Given the description of an element on the screen output the (x, y) to click on. 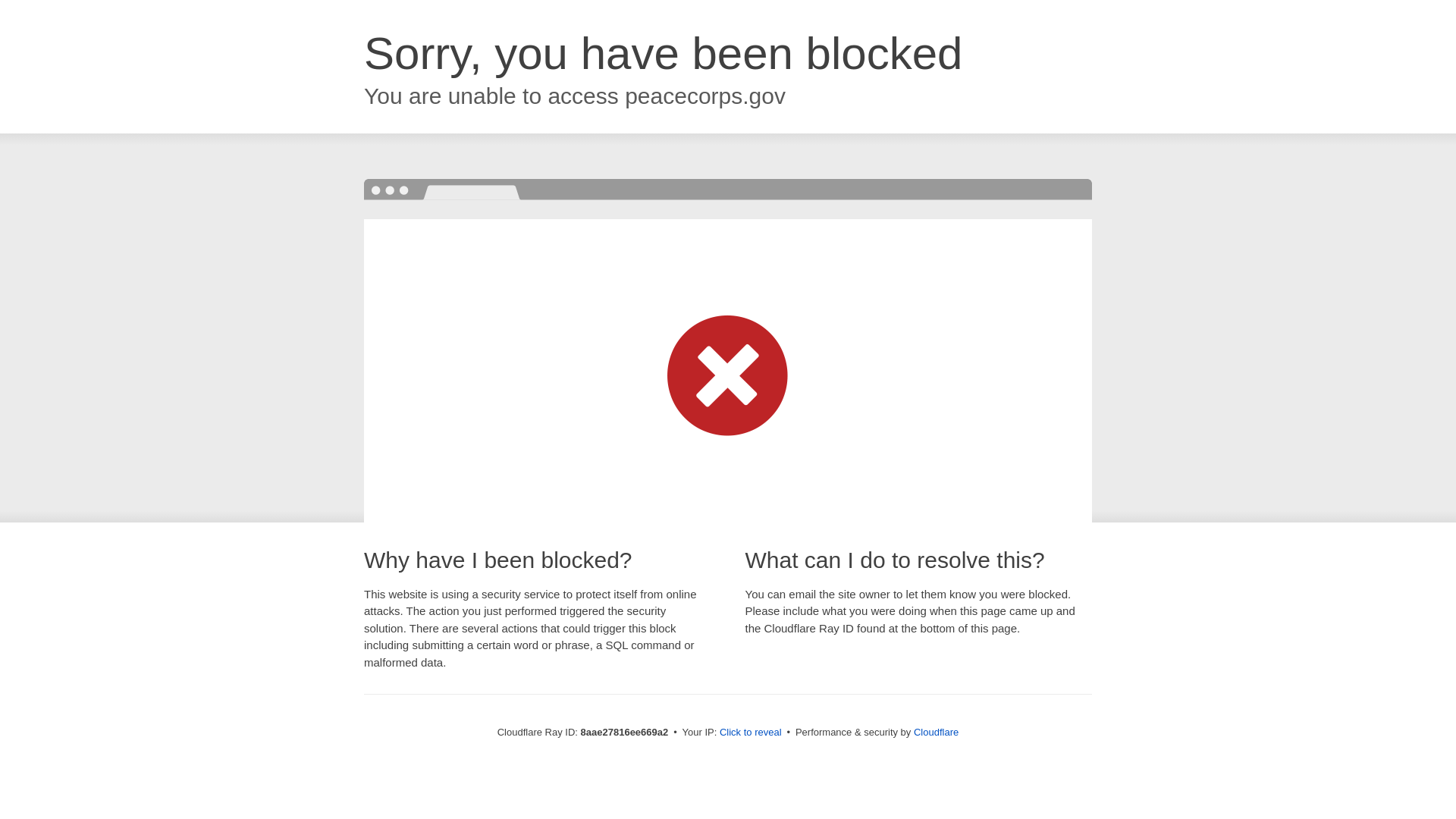
Click to reveal (750, 732)
Cloudflare (936, 731)
